Given the description of an element on the screen output the (x, y) to click on. 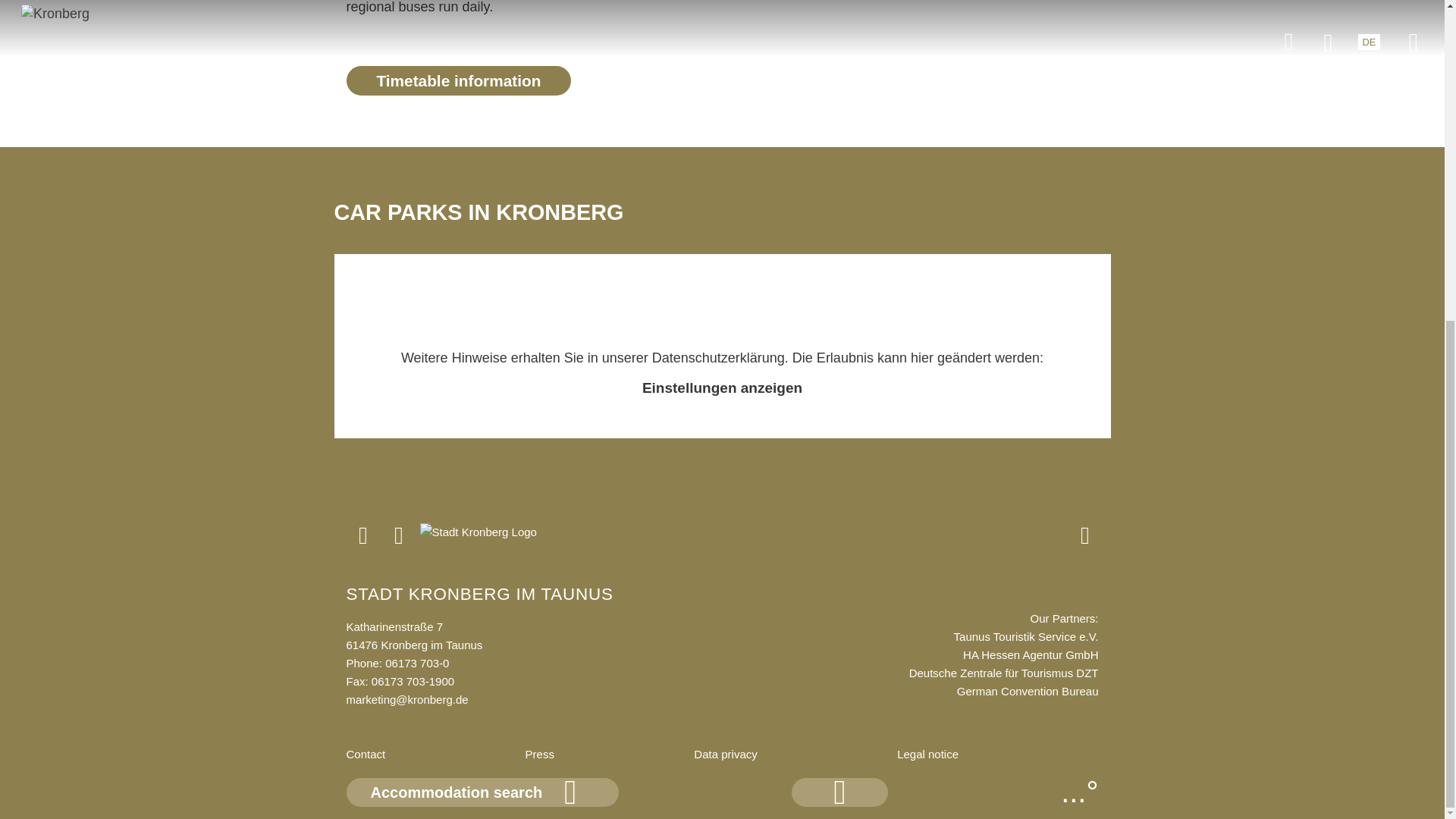
Facebook (399, 540)
Instagram (363, 540)
Link: Stadt Kronberg (477, 535)
